Given the description of an element on the screen output the (x, y) to click on. 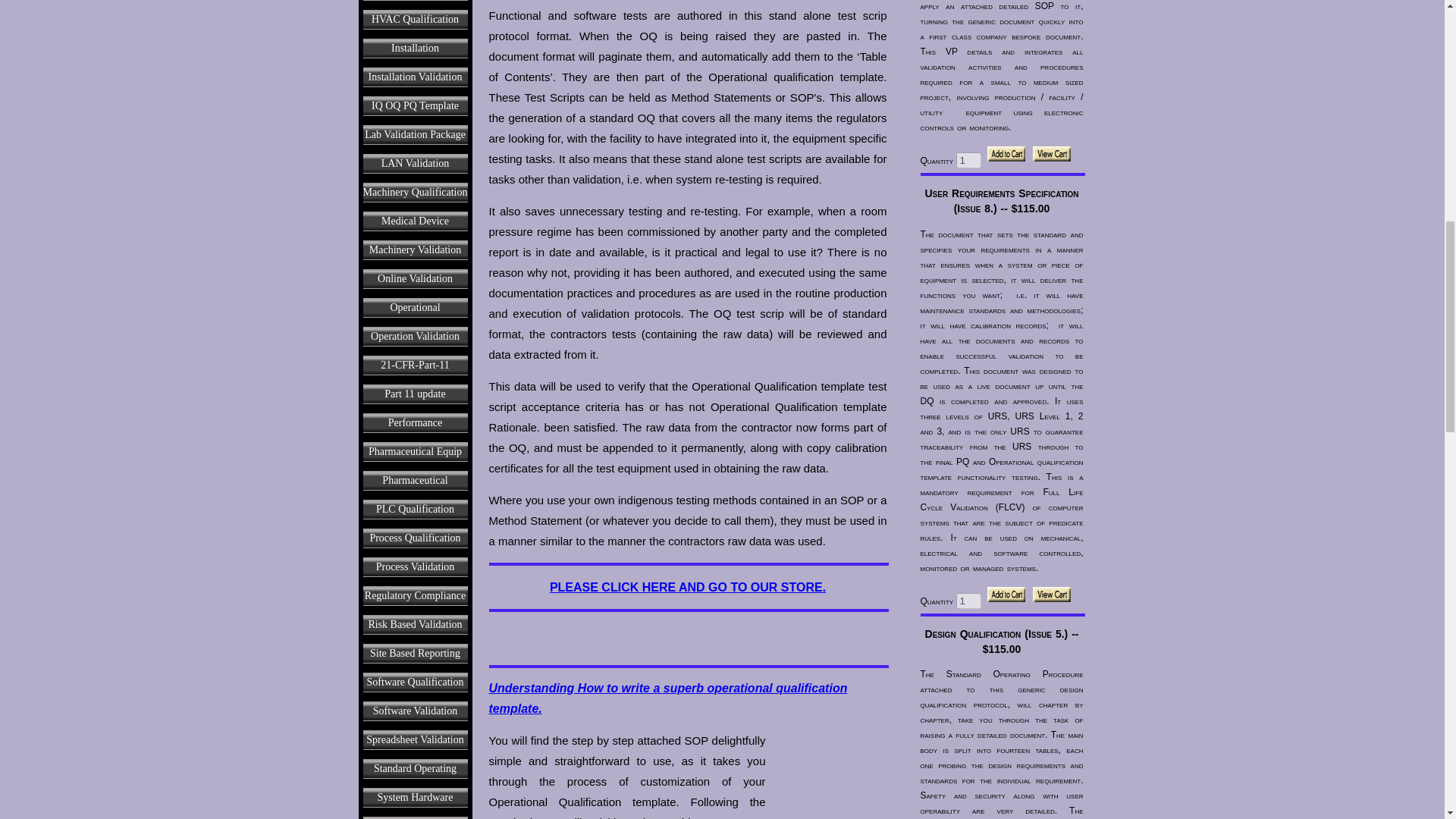
PLEASE CLICK HERE AND GO TO OUR STORE. (687, 586)
operational-qualification comments notice. (687, 635)
1 (968, 600)
1 (968, 160)
